Given the description of an element on the screen output the (x, y) to click on. 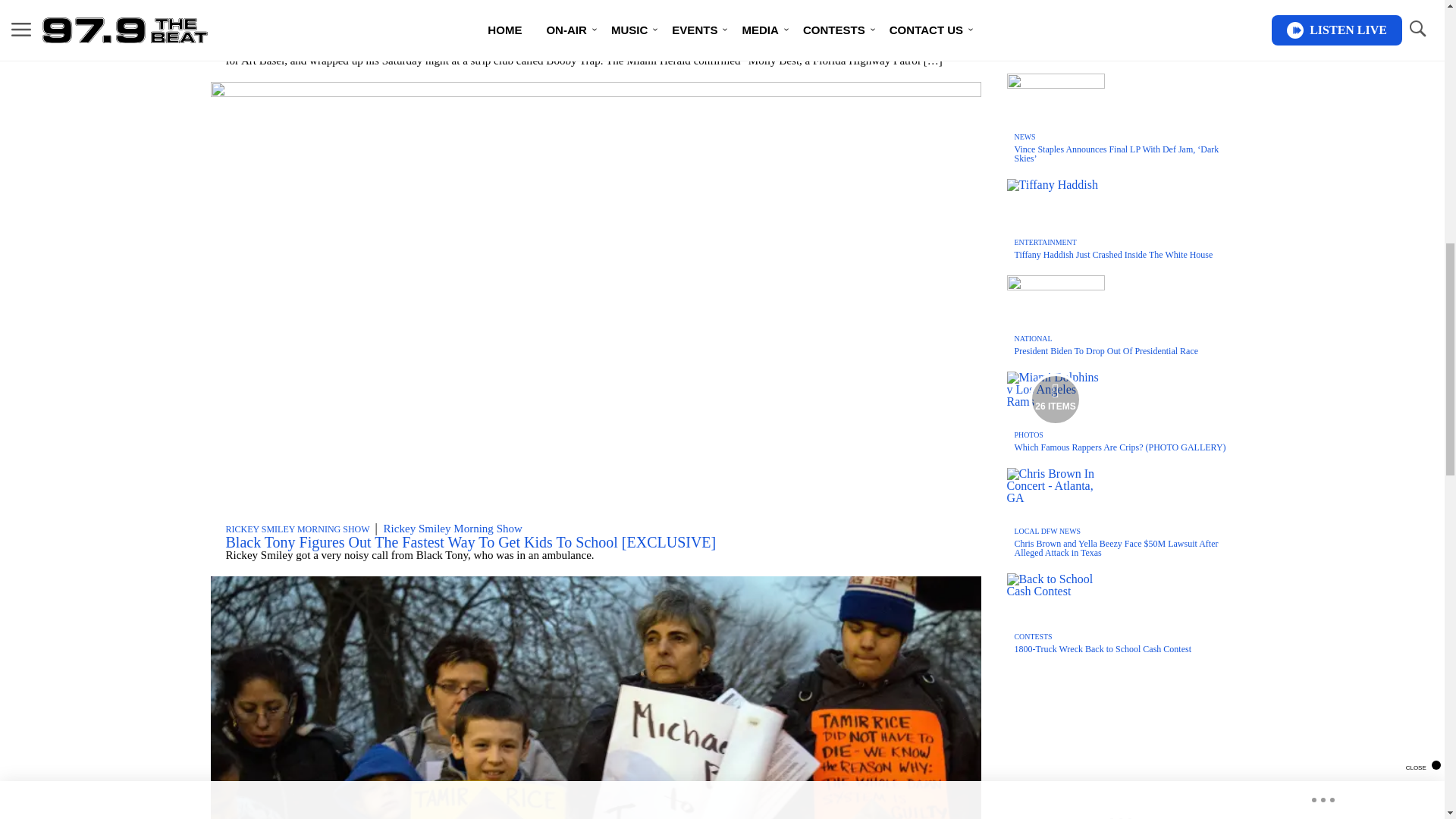
2 Chainz Hospitalized After Multi-Vehicle Crash (373, 36)
Jazzi Black (346, 22)
Media Playlist (1055, 399)
LOCAL DFW NEWS (265, 23)
